Given the description of an element on the screen output the (x, y) to click on. 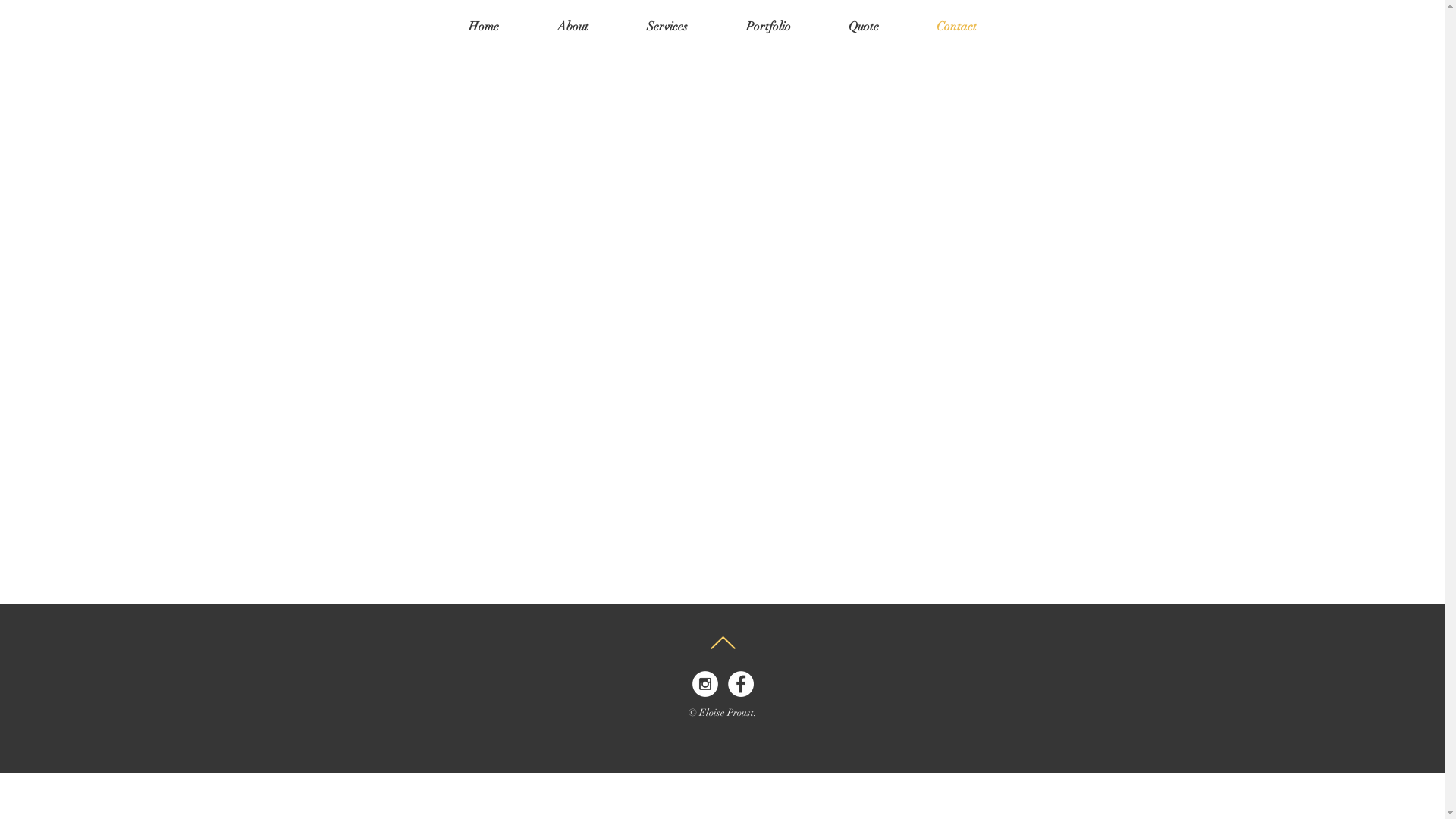
Contact Element type: text (955, 26)
Home Element type: text (483, 26)
About Element type: text (572, 26)
Services Element type: text (666, 26)
Portfolio Element type: text (768, 26)
Quote Element type: text (862, 26)
